Given the description of an element on the screen output the (x, y) to click on. 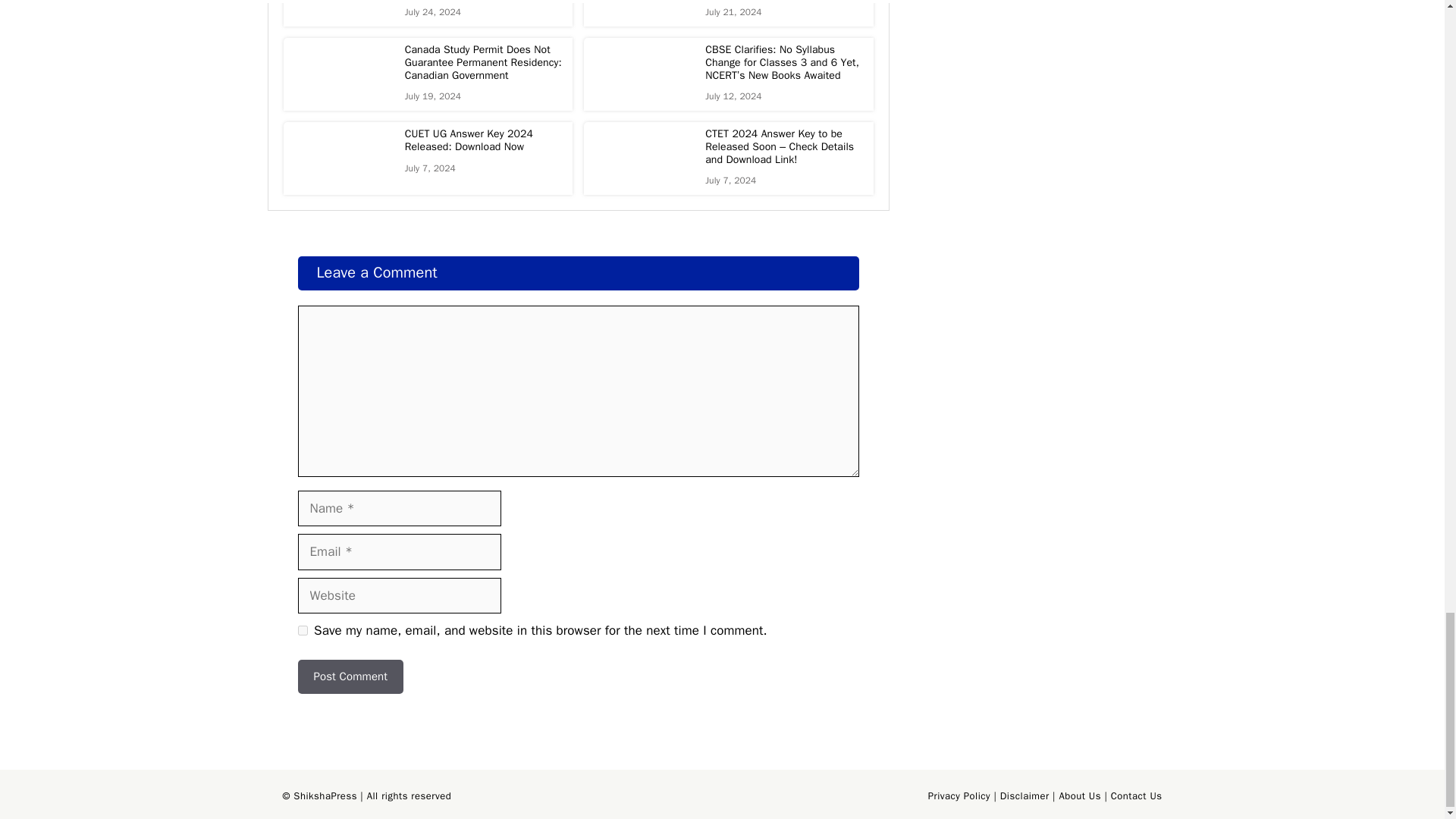
Post Comment (350, 676)
yes (302, 630)
